Given the description of an element on the screen output the (x, y) to click on. 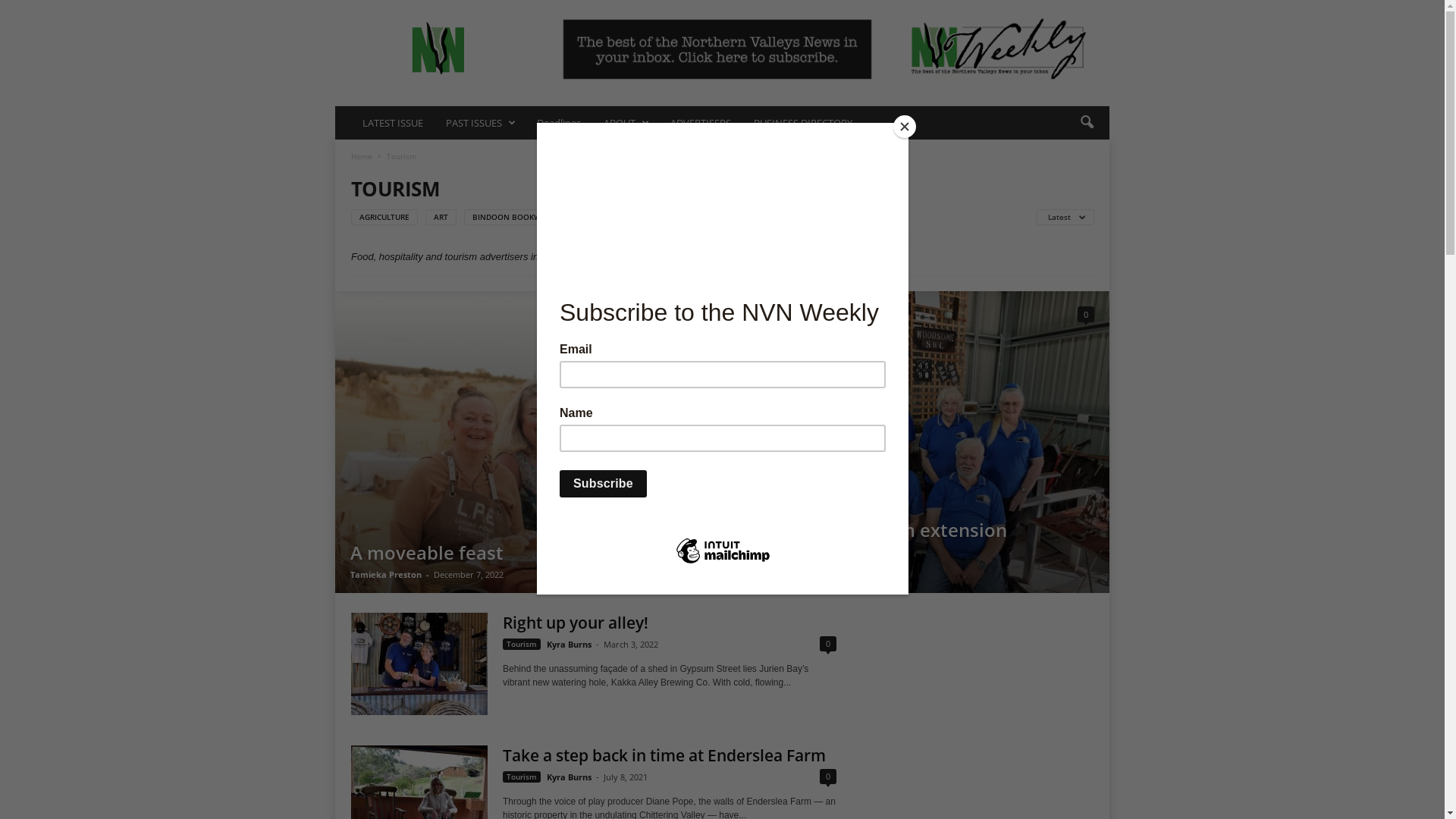
Northern Valleys News Element type: text (438, 49)
AGRICULTURE Element type: text (384, 217)
COMMUNITY Element type: text (791, 217)
Tamieka Preston Element type: text (385, 574)
Deadlines Element type: text (558, 122)
Kyra Burns Element type: text (568, 776)
Right up your alley! Element type: hover (419, 663)
COLUMN Element type: text (727, 217)
BUSINESS Element type: text (600, 217)
0 Element type: text (1085, 314)
ABOUT Element type: text (625, 122)
BINDOON BOOKWORM Element type: text (515, 217)
Home Element type: text (361, 155)
Kyra Burns Element type: text (568, 643)
Right up your alley! Element type: text (575, 622)
Bullsbrook Museum extension near completion Element type: hover (916, 442)
0 Element type: text (827, 643)
ADVERTISERS Element type: text (700, 122)
A moveable feast Element type: hover (528, 442)
A moveable feast Element type: text (426, 551)
Tourism Element type: text (521, 643)
PAST ISSUES Element type: text (479, 122)
Take a step back in time at Enderslea Farm Element type: text (663, 754)
CHRISTMAS Element type: text (665, 217)
Bullsbrook Museum extension near completion Element type: text (872, 540)
LATEST ISSUE Element type: text (392, 122)
ART Element type: text (440, 217)
Tourism Element type: text (521, 776)
0 Element type: text (697, 314)
BUSINESS DIRECTORY Element type: text (802, 122)
Kyra Burns Element type: text (760, 574)
0 Element type: text (827, 776)
